Given the description of an element on the screen output the (x, y) to click on. 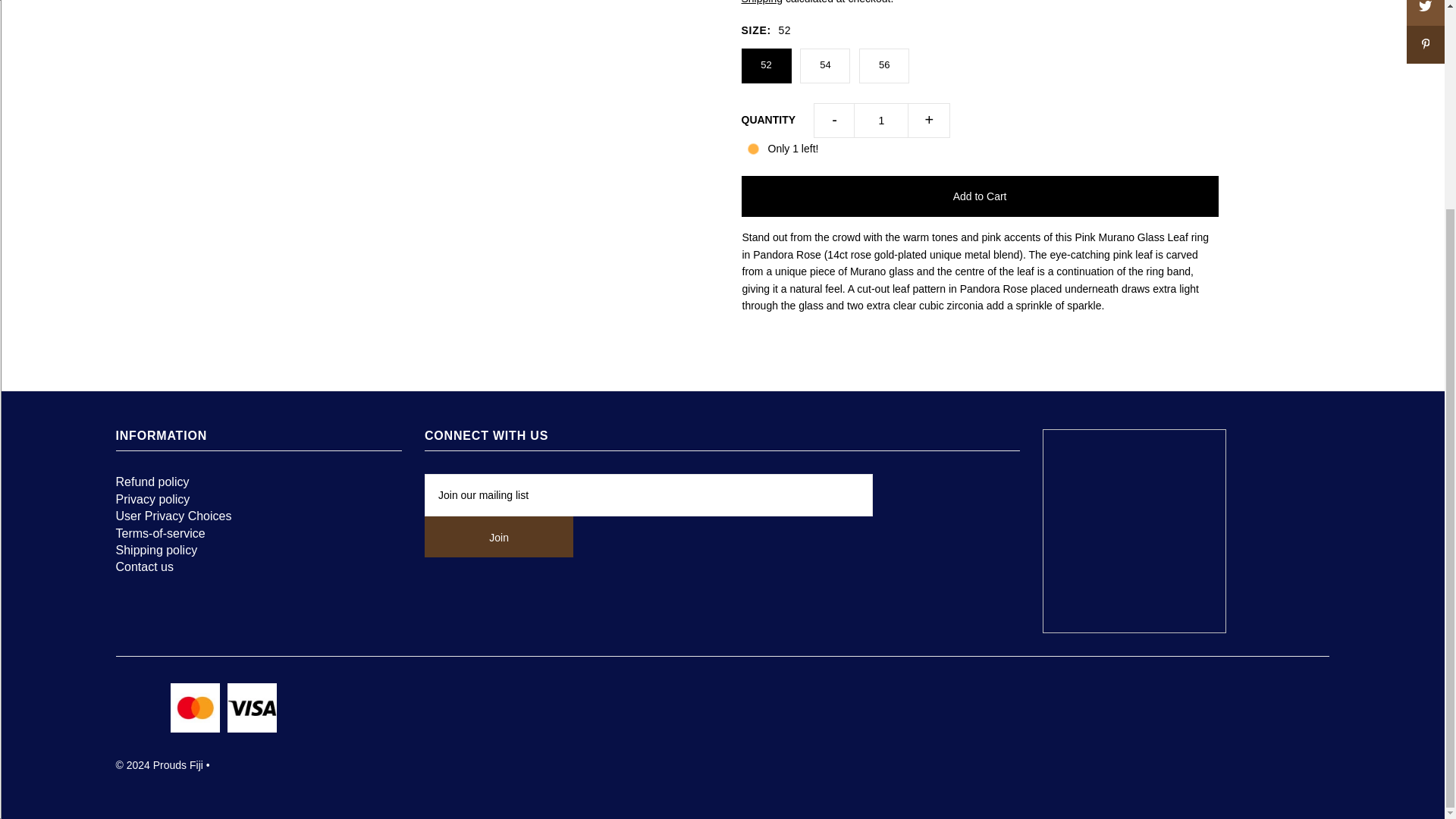
Join (499, 536)
1 (880, 120)
Add to Cart (979, 196)
